Given the description of an element on the screen output the (x, y) to click on. 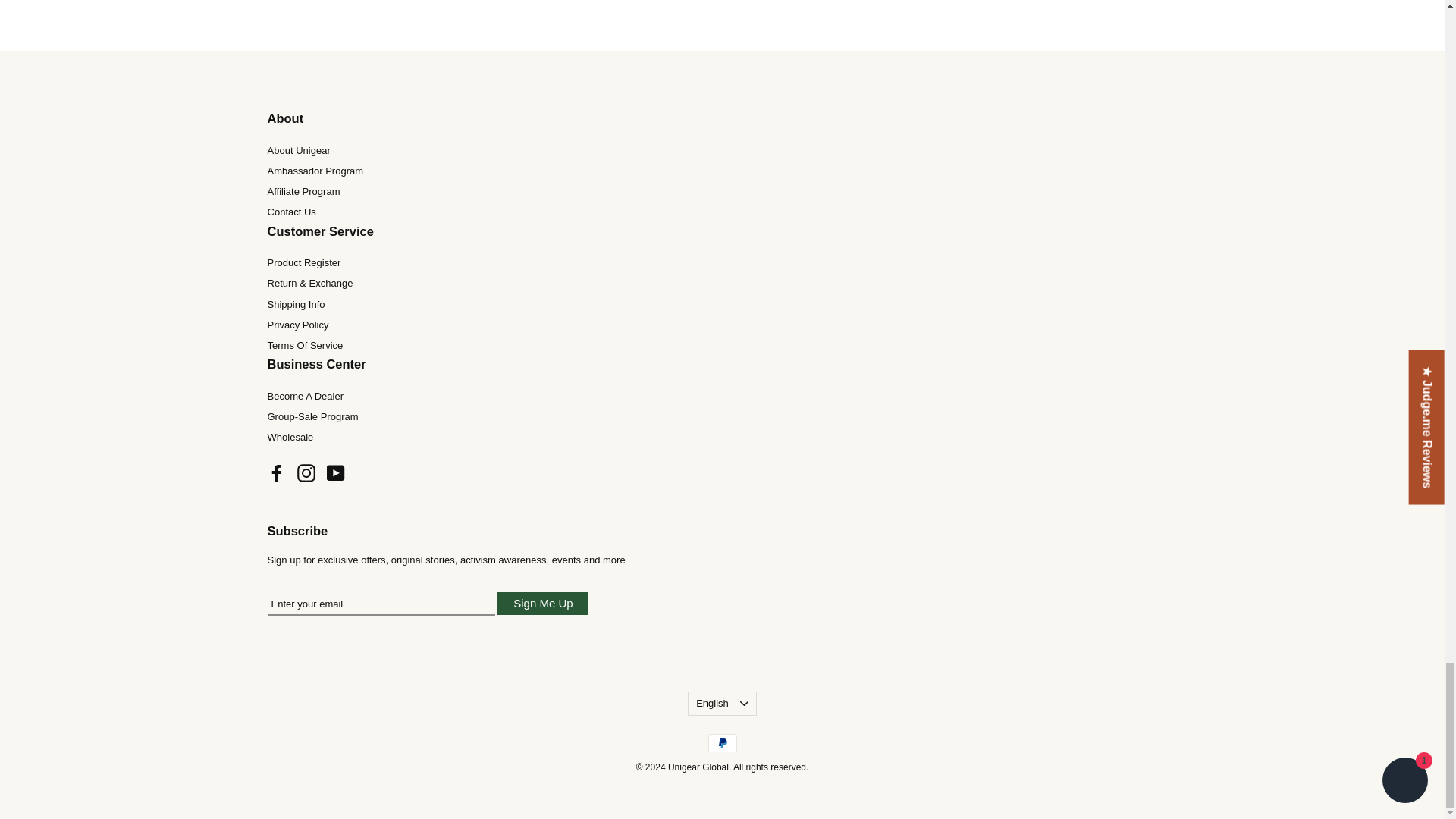
Unigear on Instagram (306, 473)
Unigear on YouTube (334, 473)
PayPal (721, 742)
Unigear on Facebook (275, 473)
